Given the description of an element on the screen output the (x, y) to click on. 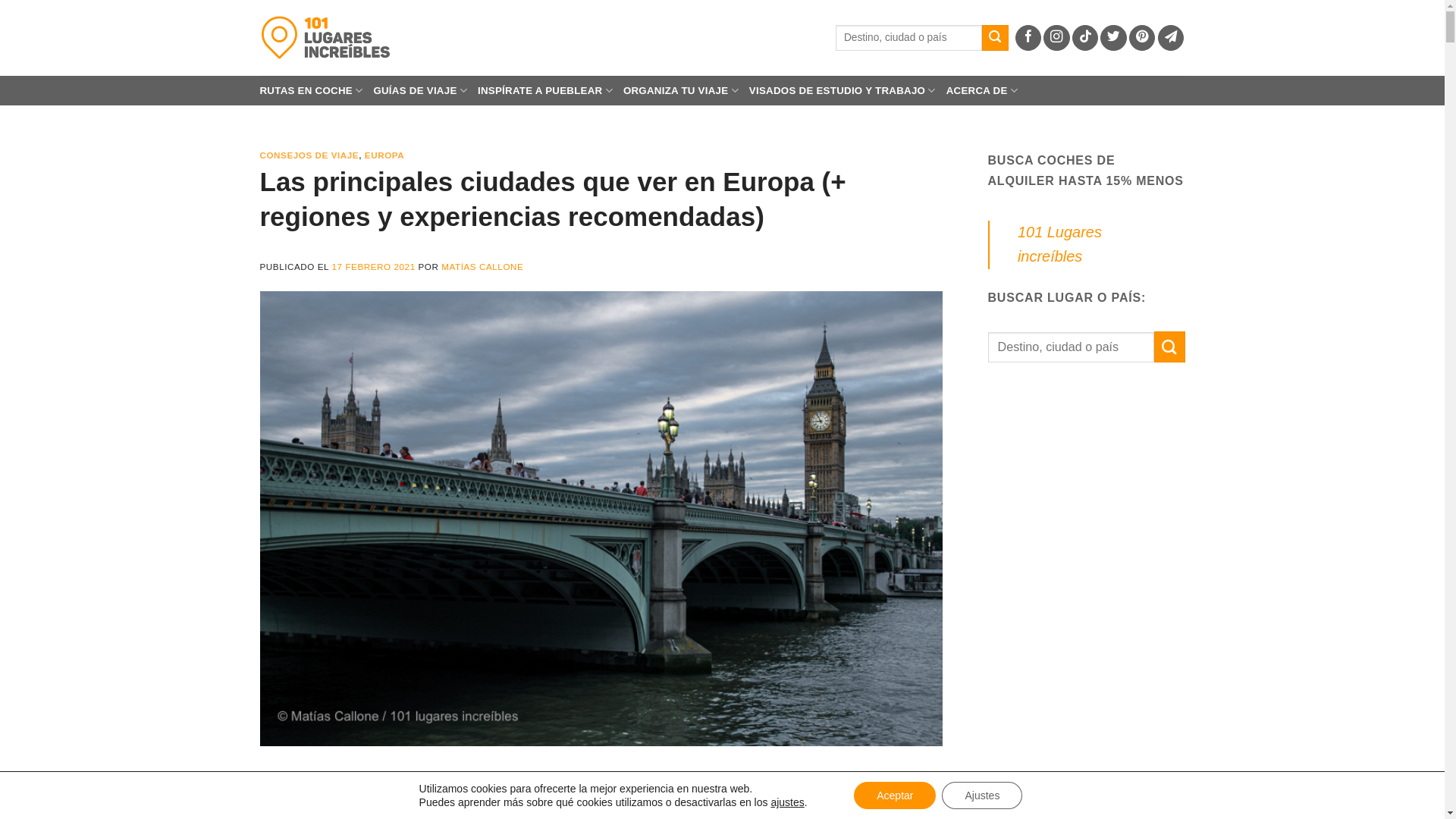
Ajustes Element type: text (981, 795)
ACERCA DE Element type: text (981, 90)
VISADOS DE ESTUDIO Y TRABAJO Element type: text (842, 90)
Aceptar Element type: text (894, 795)
RUTAS EN COCHE Element type: text (310, 90)
CONSEJOS DE VIAJE Element type: text (308, 155)
EUROPA Element type: text (384, 155)
17 FEBRERO 2021 Element type: text (373, 266)
ORGANIZA TU VIAJE Element type: text (680, 90)
